Given the description of an element on the screen output the (x, y) to click on. 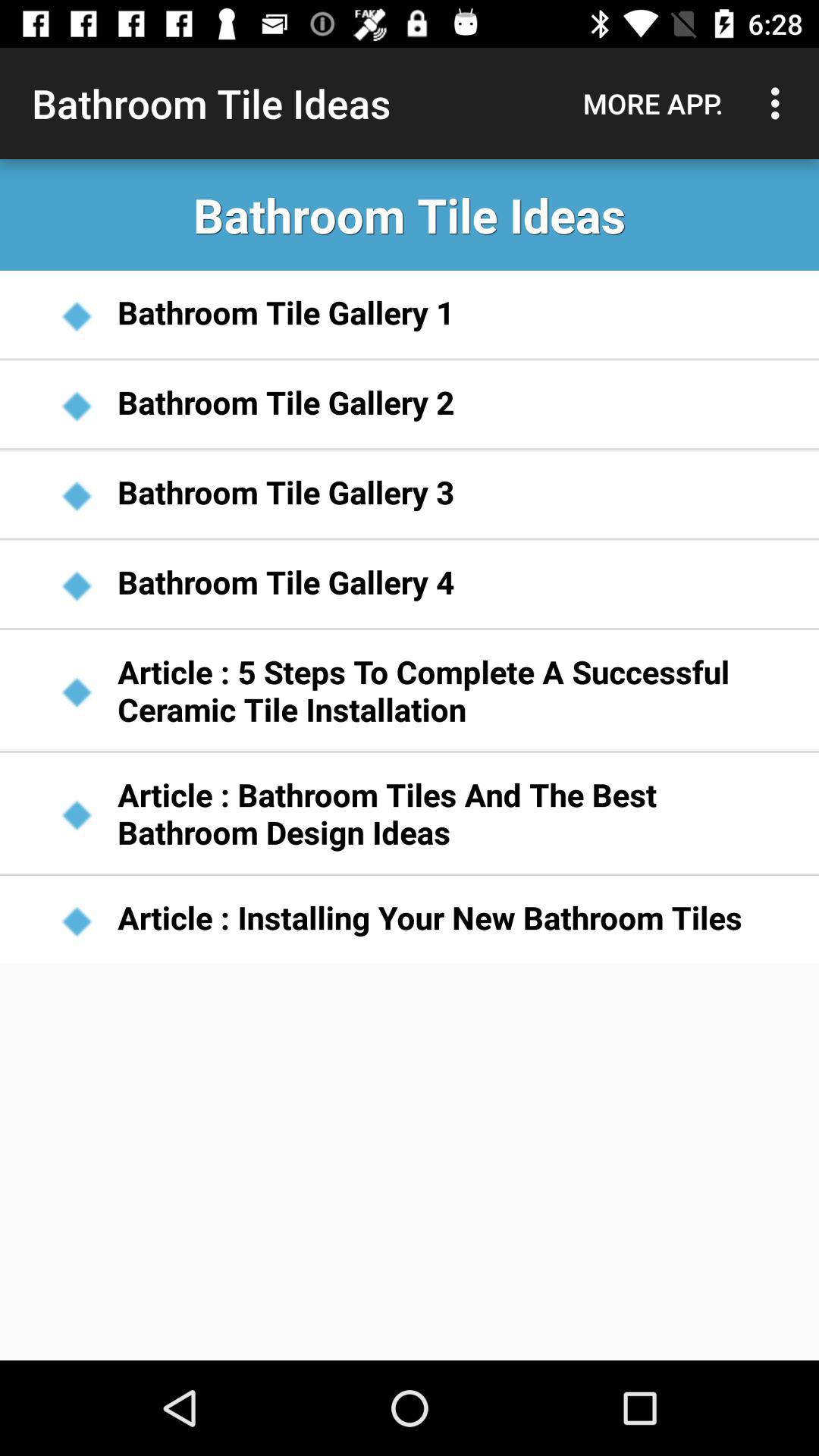
press the item next to bathroom tile ideas item (653, 103)
